Given the description of an element on the screen output the (x, y) to click on. 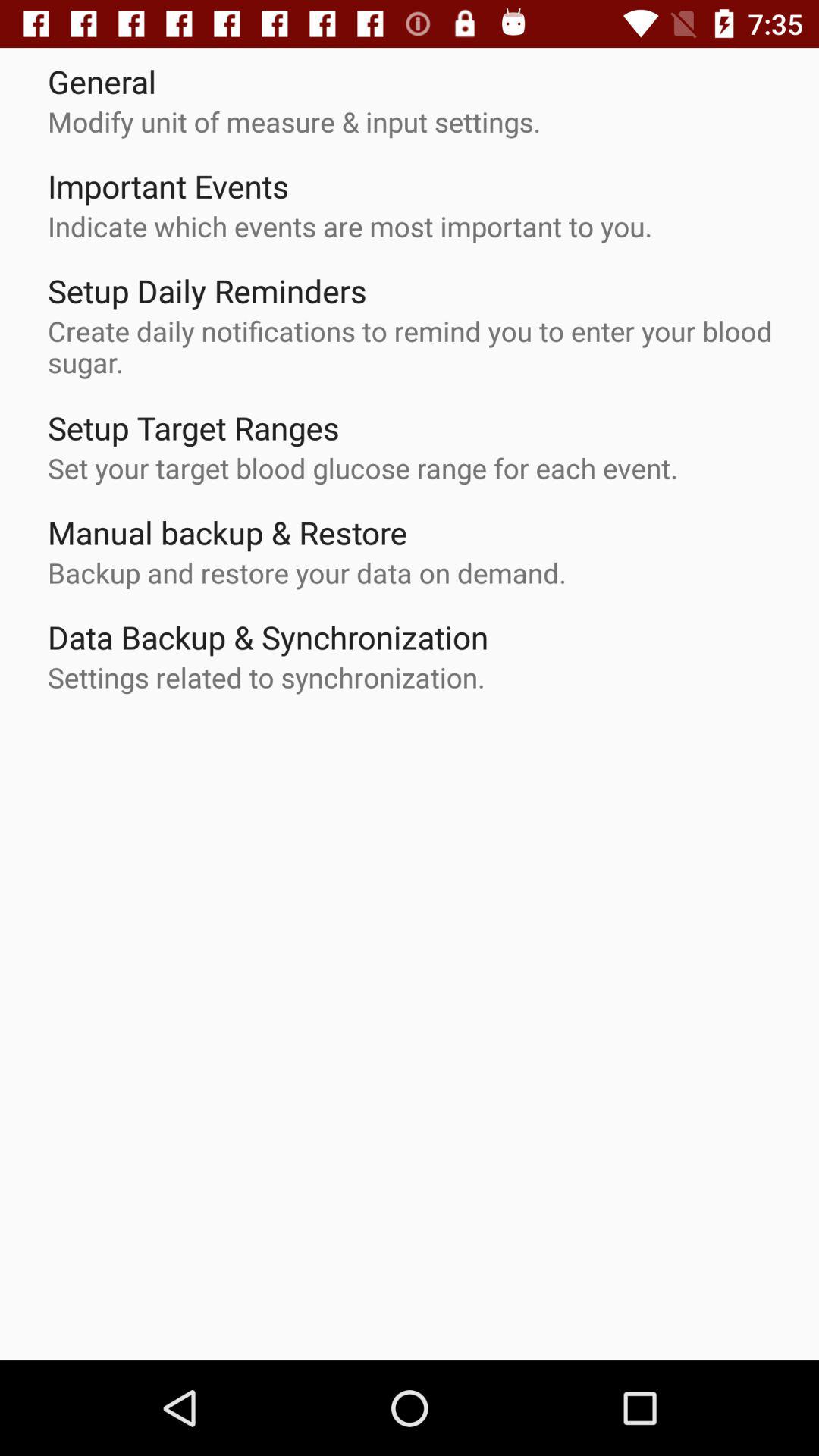
turn off setup target ranges app (193, 427)
